Given the description of an element on the screen output the (x, y) to click on. 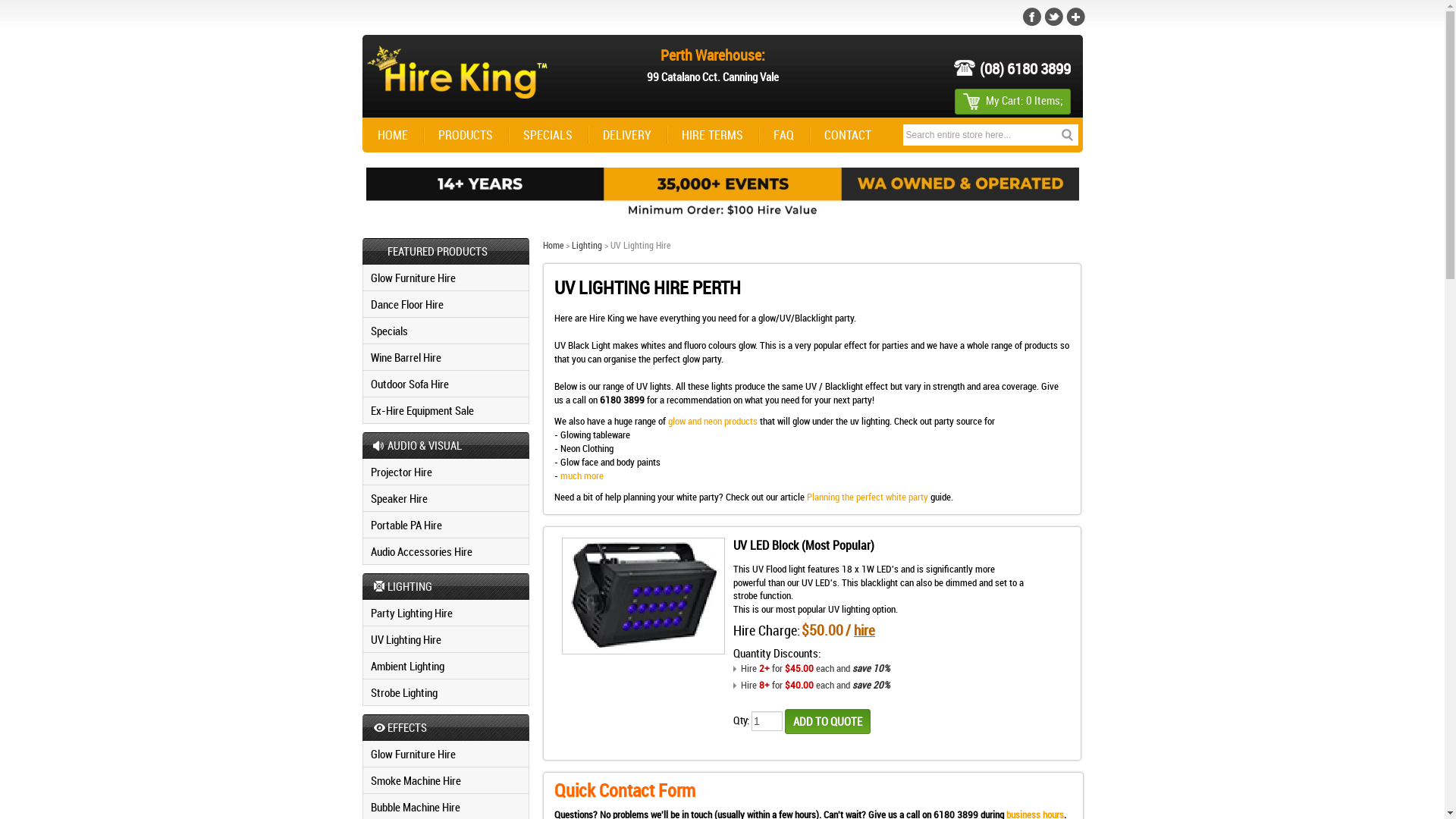
Search Element type: text (1067, 134)
hire Element type: text (864, 630)
Perth Warehouse:
99 Catalano Cct. Canning Vale Element type: text (712, 64)
Party Hire Perth Element type: hover (454, 71)
Audio Accessories Hire Element type: text (445, 551)
Home Element type: text (552, 244)
Projector Hire Element type: text (445, 471)
Dance Floor Hire Element type: text (445, 304)
Glow Furniture Hire Element type: text (445, 277)
Glow Furniture Hire Element type: text (445, 753)
(08) 6180 3899 Element type: text (1011, 68)
HIRE TERMS Element type: text (711, 134)
Portable PA Hire Element type: text (445, 524)
Wine Barrel Hire Element type: text (445, 357)
ADD TO QUOTE Element type: text (828, 721)
Smoke Machine Hire Element type: text (445, 780)
HOME Element type: text (392, 134)
Outdoor Sofa Hire Element type: text (445, 383)
Ex-Hire Equipment Sale Element type: text (445, 410)
DELIVERY Element type: text (625, 134)
My Cart: 0 Element type: text (1005, 99)
Ambient Lighting Element type: text (445, 665)
SPECIALS Element type: text (547, 134)
Speaker Hire Element type: text (445, 498)
CONTACT Element type: text (846, 134)
FEATURED PRODUCTS Element type: text (445, 251)
Planning the perfect white party Element type: text (867, 496)
Lighting Element type: text (586, 244)
Strobe Lighting Element type: text (445, 692)
PRODUCTS Element type: text (465, 134)
UV Lighting Hire Element type: text (445, 639)
EFFECTS Element type: text (445, 727)
Google Plus Element type: text (1073, 16)
AUDIO & VISUAL Element type: text (445, 445)
Party Lighting Hire Element type: text (445, 612)
Facebook Element type: text (1032, 16)
Twitter Element type: text (1053, 16)
much more  Element type: text (582, 475)
Qty Element type: hover (766, 721)
FAQ Element type: text (783, 134)
glow and neon products Element type: text (712, 420)
LIGHTING Element type: text (445, 586)
Specials Element type: text (445, 330)
